Given the description of an element on the screen output the (x, y) to click on. 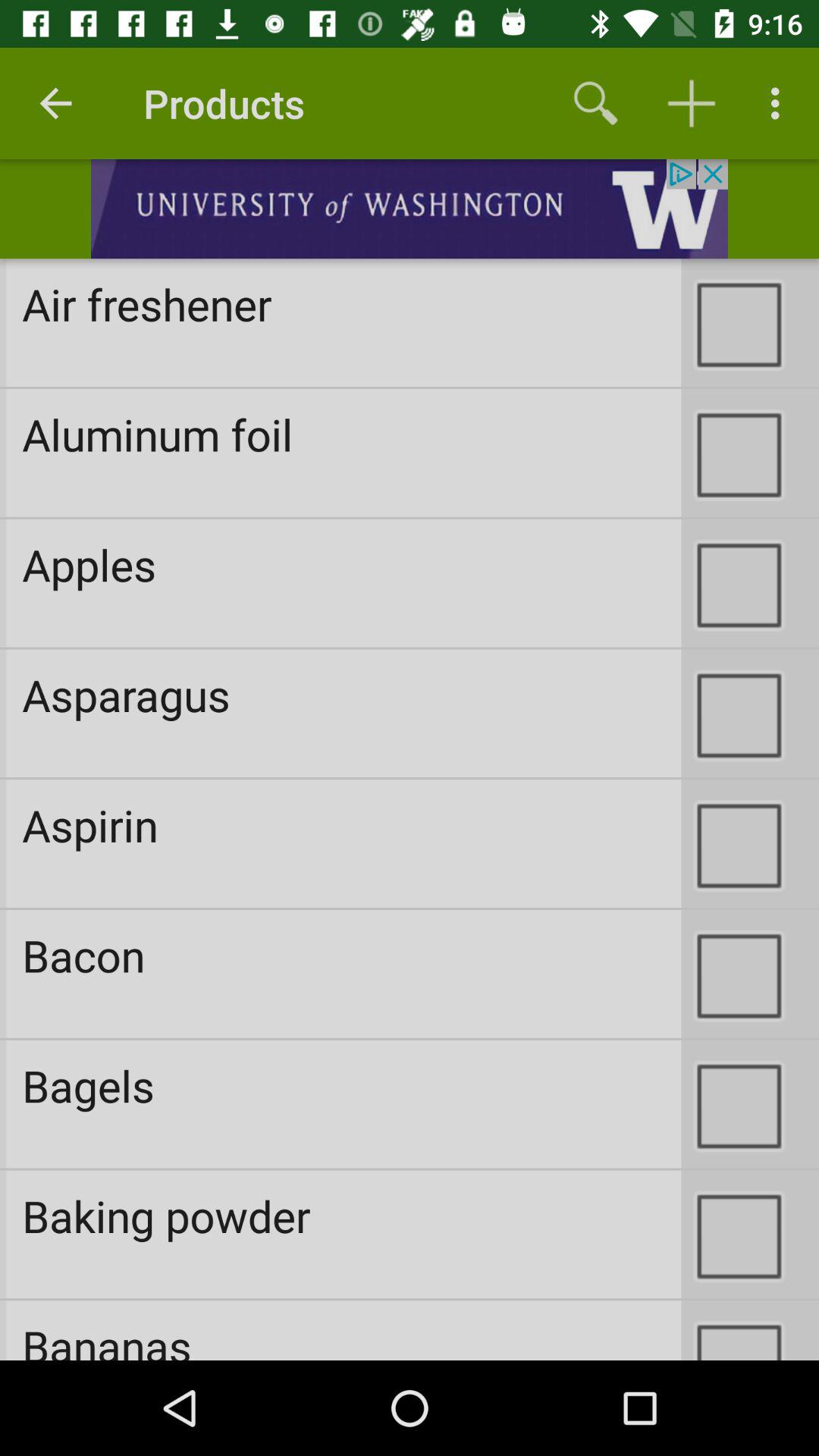
click on the checkbox which is right side to aspirin (750, 842)
